Given the description of an element on the screen output the (x, y) to click on. 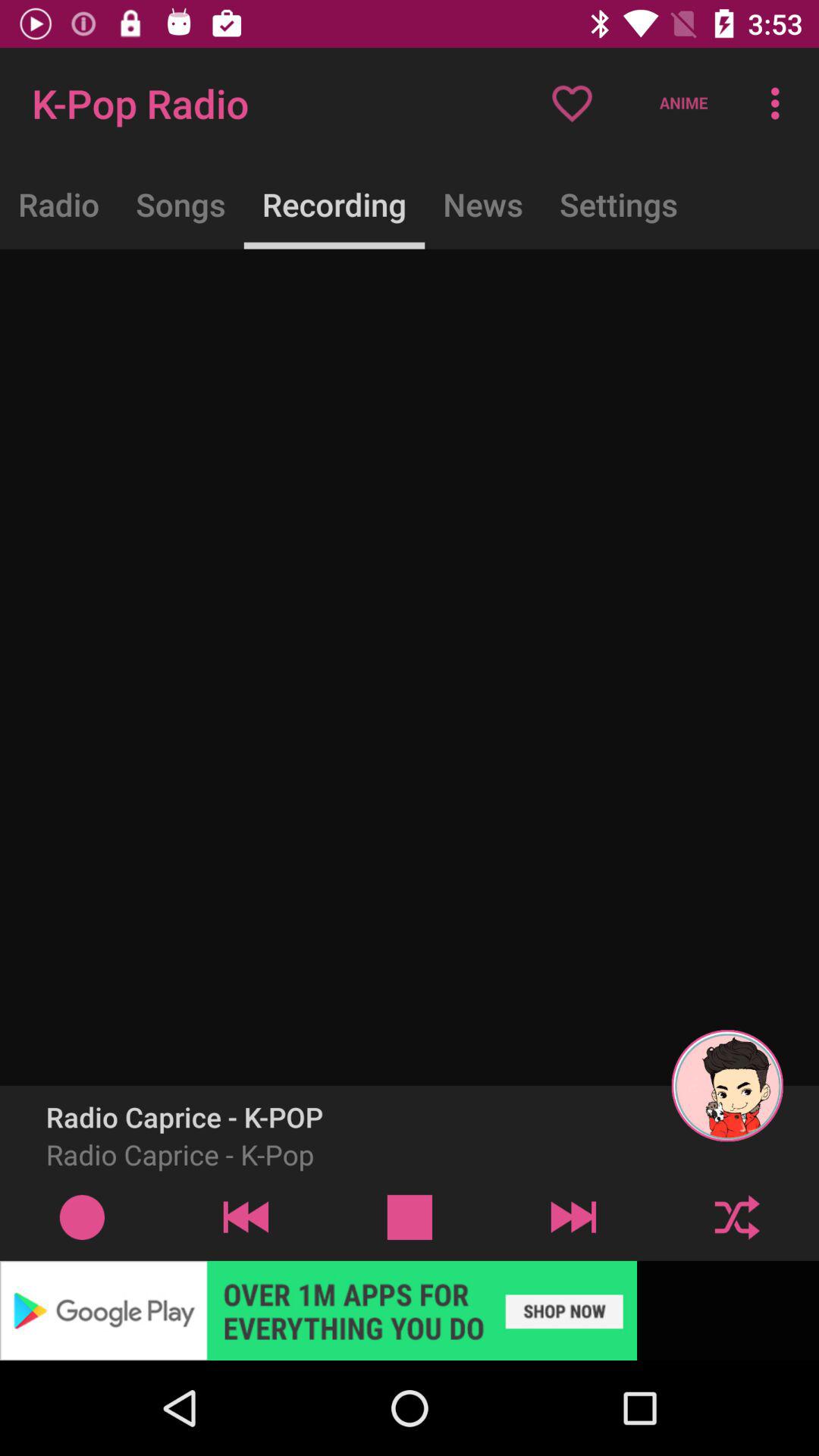
play backward option (245, 1216)
